Given the description of an element on the screen output the (x, y) to click on. 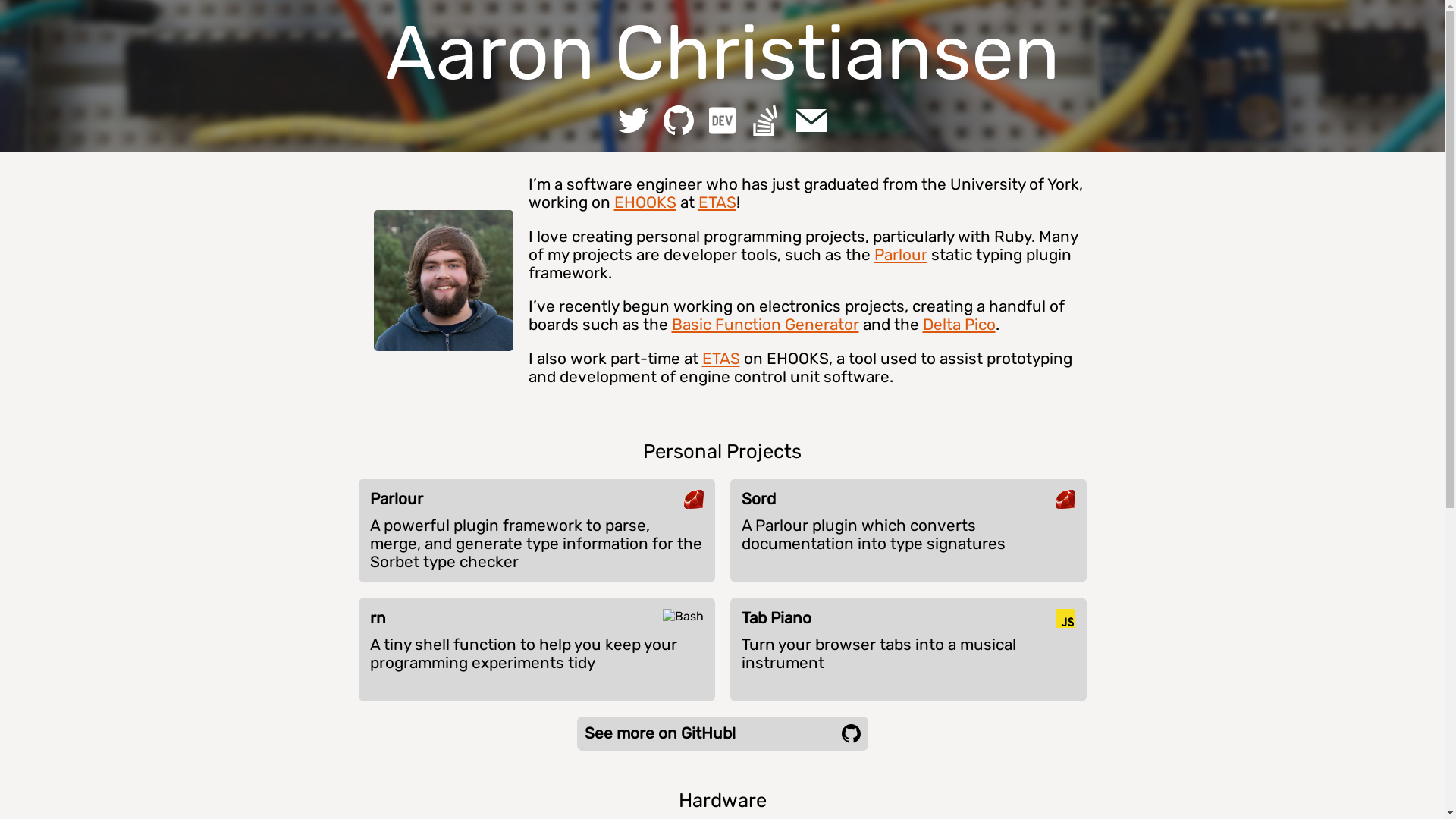
Parlour Element type: text (899, 254)
Basic Function Generator Element type: text (765, 324)
Delta Pico Element type: text (958, 324)
ETAS Element type: text (721, 358)
EHOOKS Element type: text (645, 202)
ETAS Element type: text (716, 202)
See more on GitHub! Element type: text (721, 733)
Tab Piano
Turn your browser tabs into a musical instrument Element type: text (907, 640)
